Given the description of an element on the screen output the (x, y) to click on. 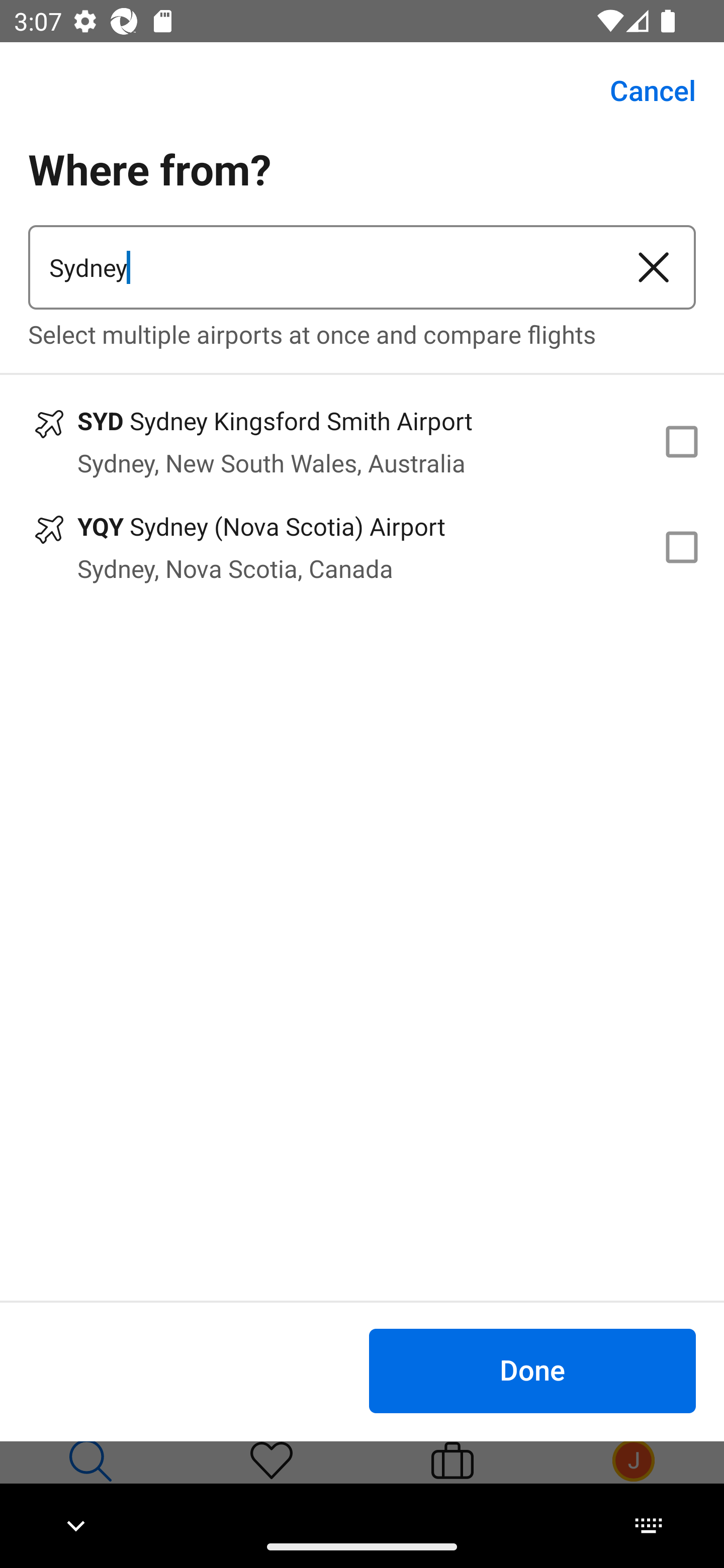
Cancel (641, 90)
Sydney (319, 266)
Clear airport or city (653, 266)
Done (532, 1370)
